Given the description of an element on the screen output the (x, y) to click on. 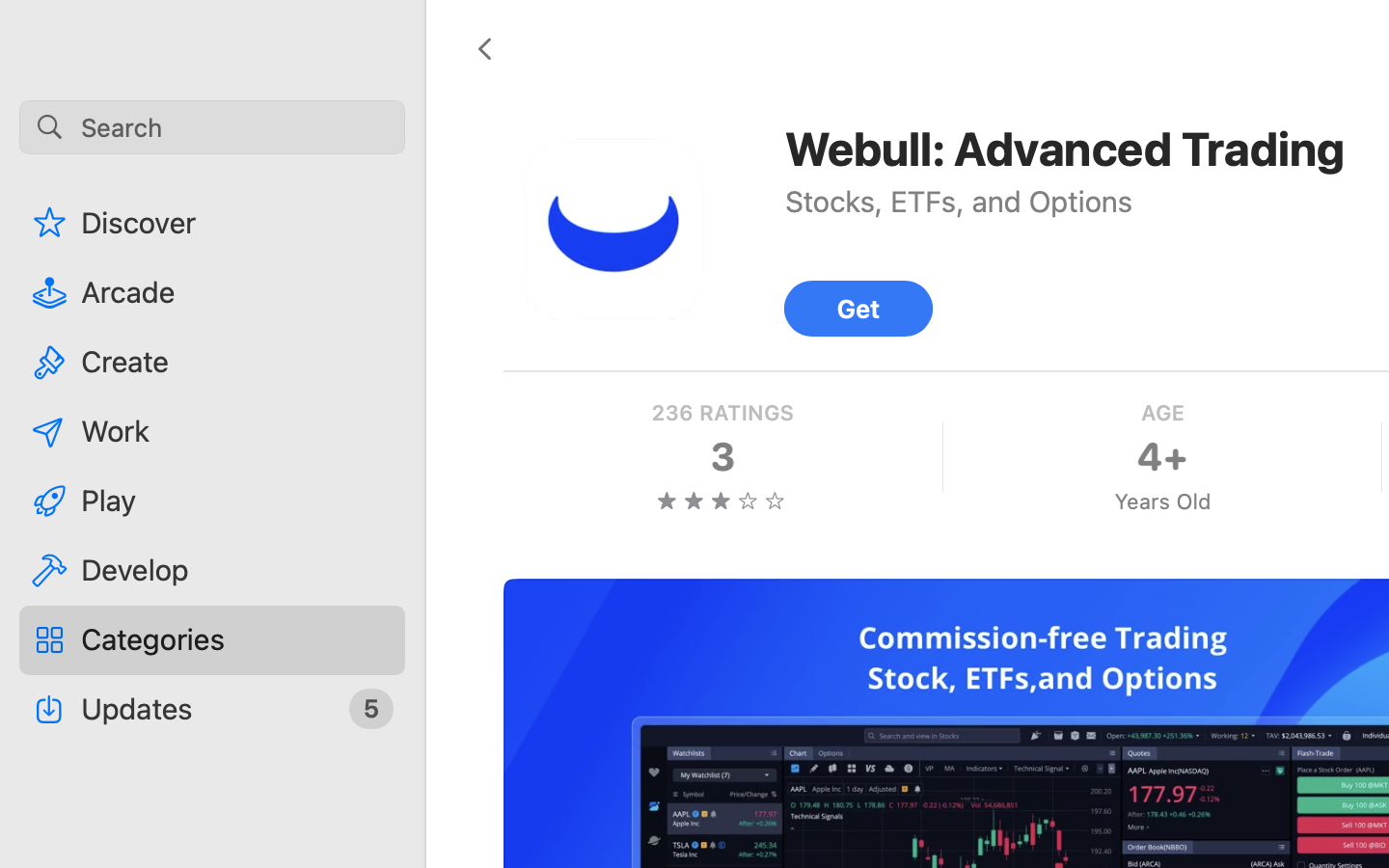
3 Element type: AXStaticText (722, 457)
AGE Element type: AXStaticText (1161, 412)
4+ Element type: AXStaticText (1162, 457)
236 RATINGS Element type: AXStaticText (722, 412)
Years Old Element type: AXStaticText (1161, 501)
